Given the description of an element on the screen output the (x, y) to click on. 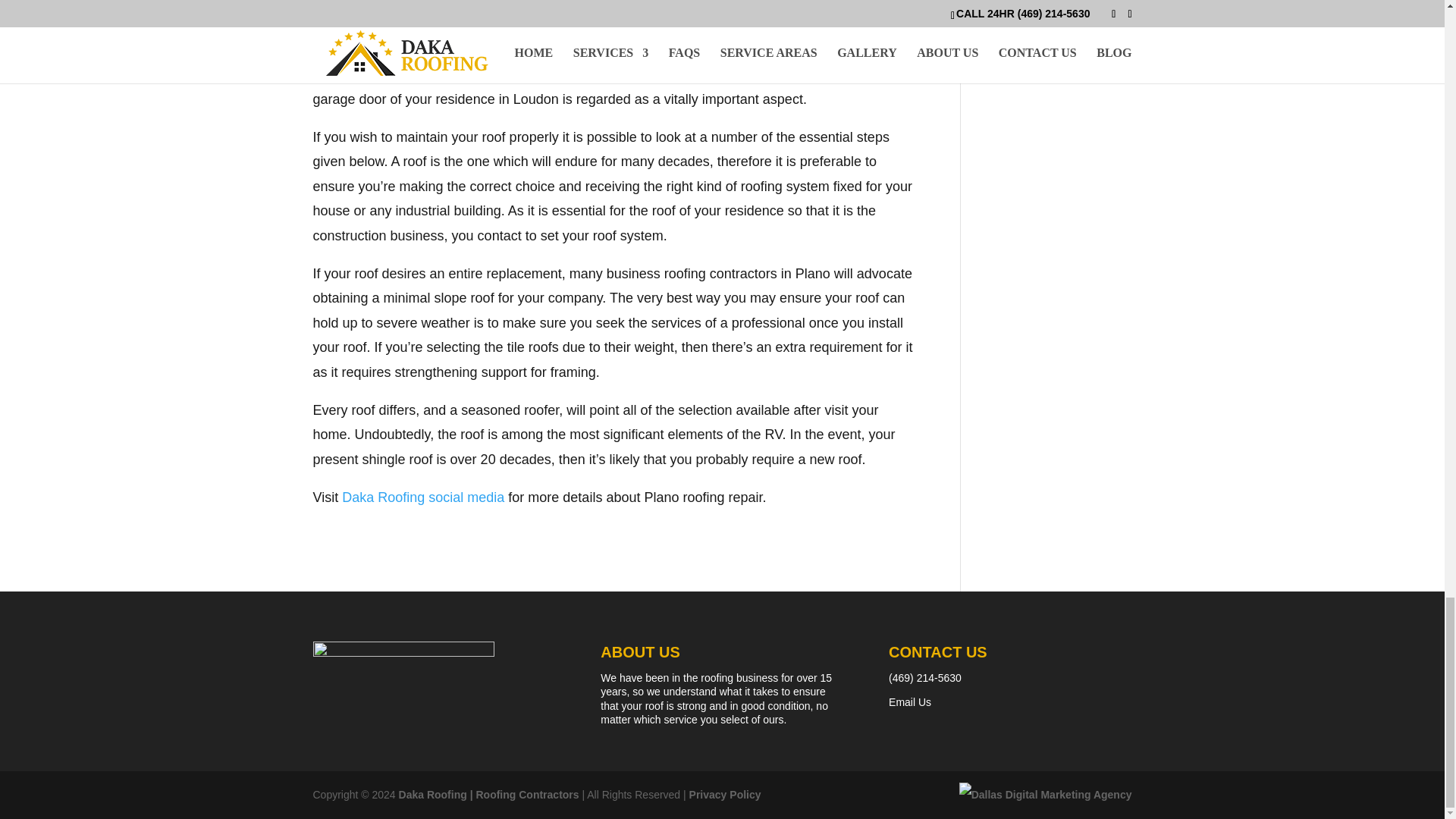
Daka Roofing (383, 497)
social media (465, 497)
